Given the description of an element on the screen output the (x, y) to click on. 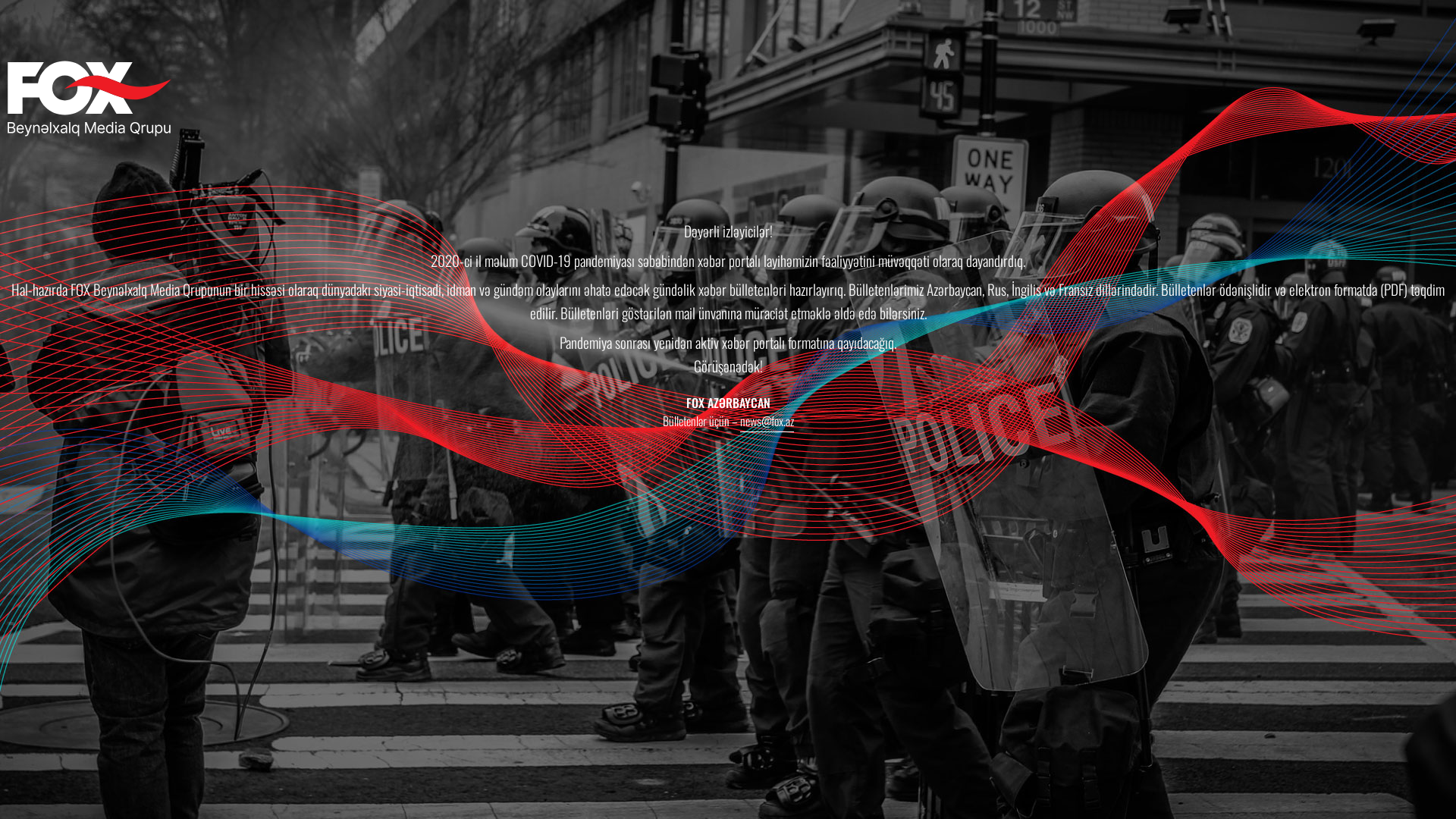
news@fox.az Element type: text (766, 421)
